Given the description of an element on the screen output the (x, y) to click on. 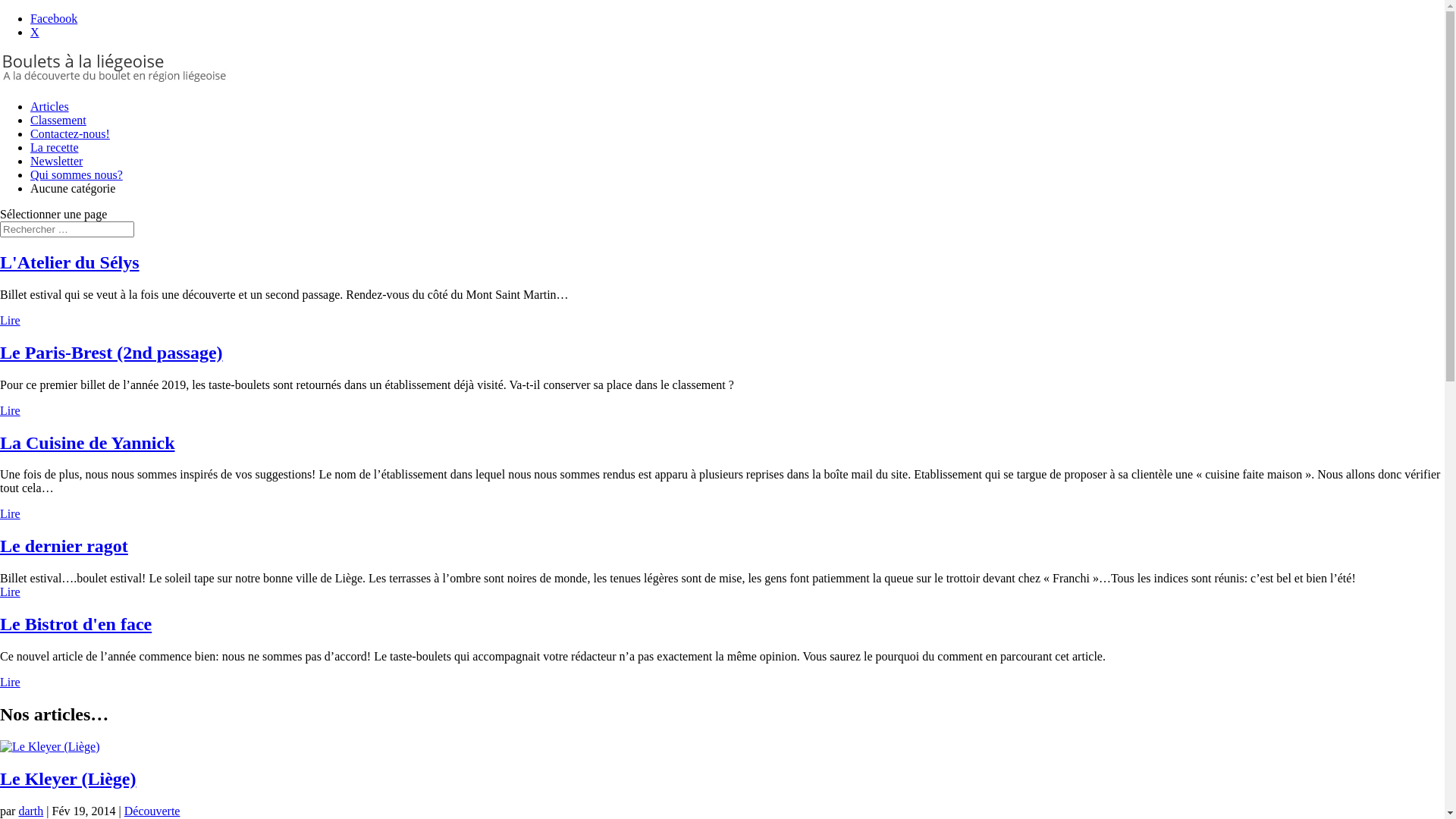
Lire Element type: text (10, 410)
Articles Element type: text (49, 106)
Facebook Element type: text (53, 18)
Newsletter Element type: text (56, 160)
Le Bistrot d'en face Element type: text (75, 623)
darth Element type: text (30, 810)
Qui sommes nous? Element type: text (76, 174)
La recette Element type: text (54, 147)
X Element type: text (34, 31)
La Cuisine de Yannick Element type: text (87, 442)
Classement Element type: text (58, 119)
Lire Element type: text (10, 591)
Lire Element type: text (10, 681)
Rechercher: Element type: hover (67, 229)
Le Paris-Brest (2nd passage) Element type: text (111, 352)
Contactez-nous! Element type: text (69, 133)
Lire Element type: text (10, 513)
Le dernier ragot Element type: text (64, 545)
Lire Element type: text (10, 319)
